Given the description of an element on the screen output the (x, y) to click on. 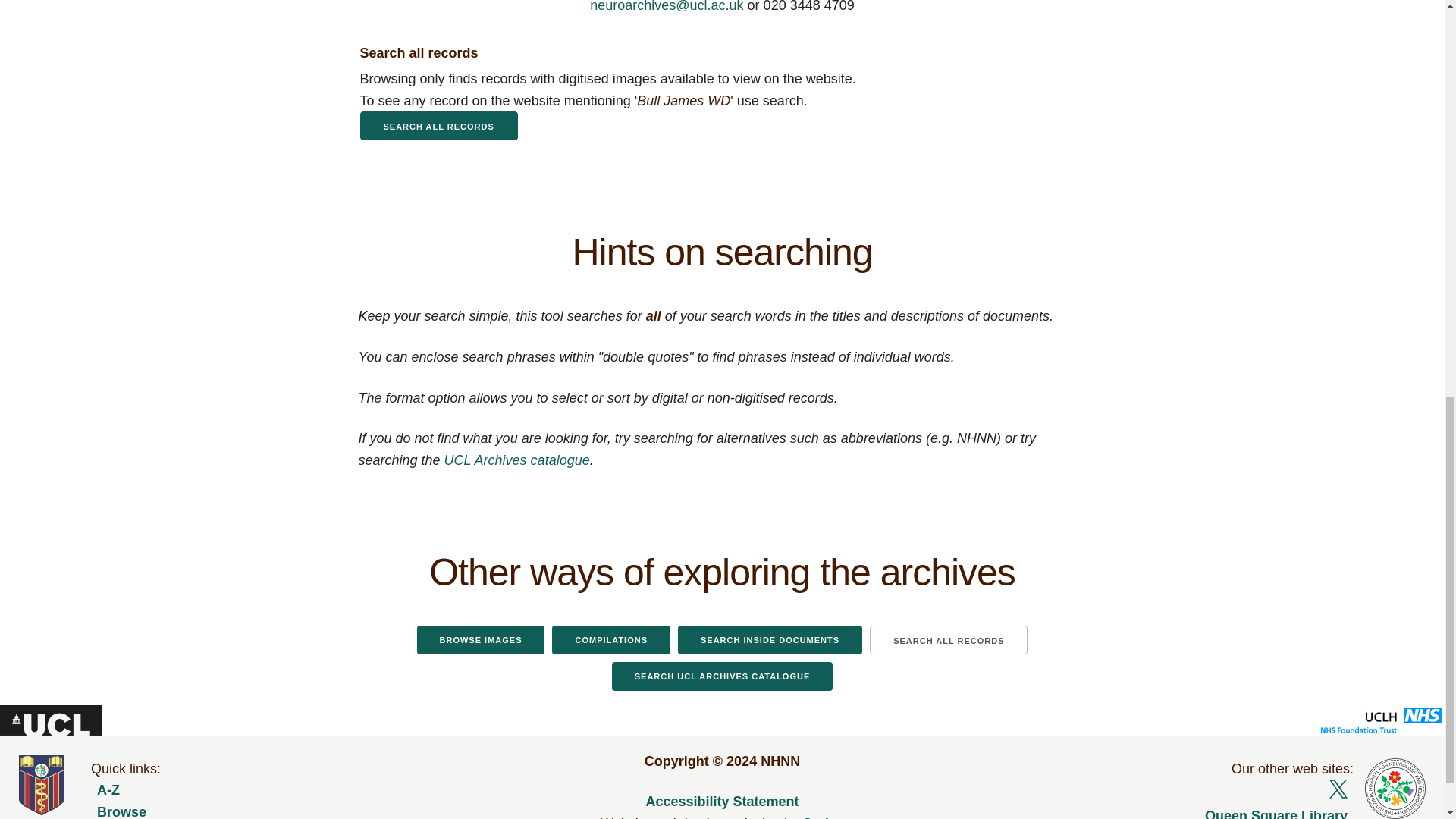
Search all records (437, 125)
COMPILATIONS (610, 639)
BROWSE IMAGES (480, 639)
Search all records (437, 125)
SEARCH INSIDE DOCUMENTS (769, 639)
UCL Archives catalogue (516, 459)
SEARCH UCL ARCHIVES CATALOGUE (721, 676)
Queen Square Library (1161, 812)
Browse (283, 810)
Codev (823, 817)
